Given the description of an element on the screen output the (x, y) to click on. 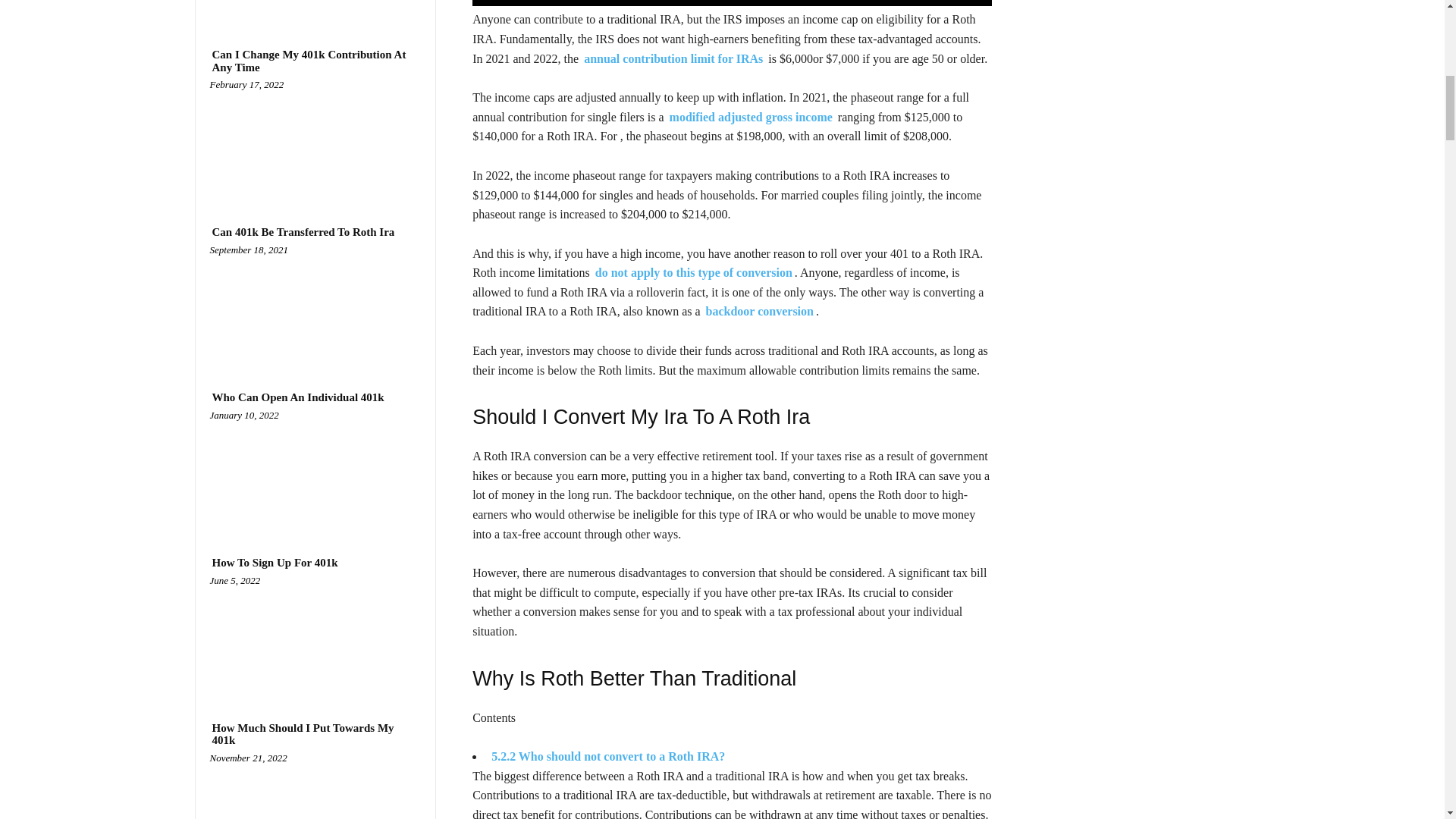
Can 401k Be Transferred To Roth Ira (302, 232)
Can I Change My 401k Contribution At Any Time (314, 140)
Who Can Open An Individual 401k (314, 471)
How To Close A Fidelity 401k Account (314, 7)
Can I Change My 401k Contribution At Any Time (314, 60)
Can 401k Be Transferred To Roth Ira (314, 305)
